Given the description of an element on the screen output the (x, y) to click on. 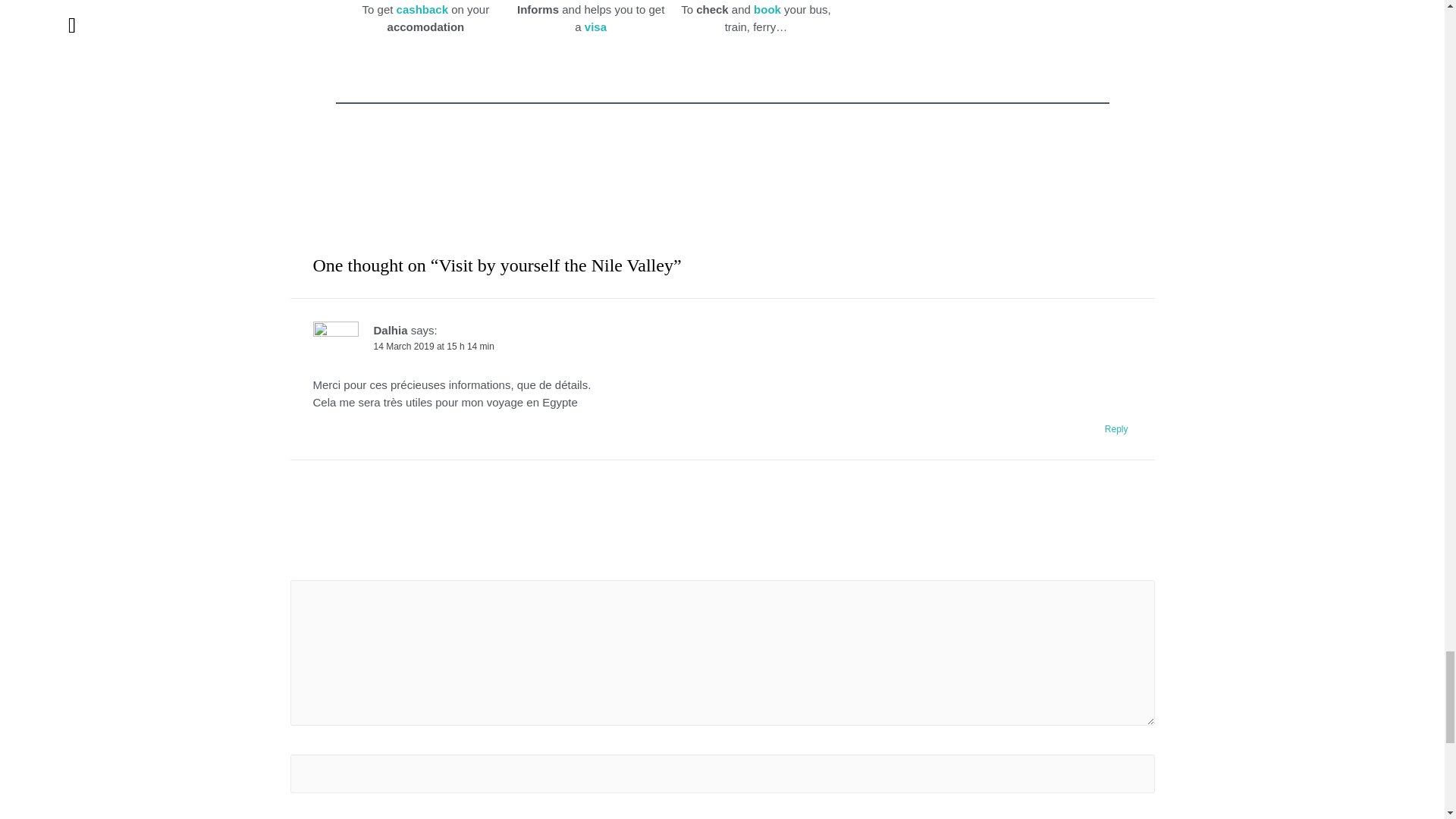
book (767, 9)
cashback (422, 9)
visa (596, 26)
